Given the description of an element on the screen output the (x, y) to click on. 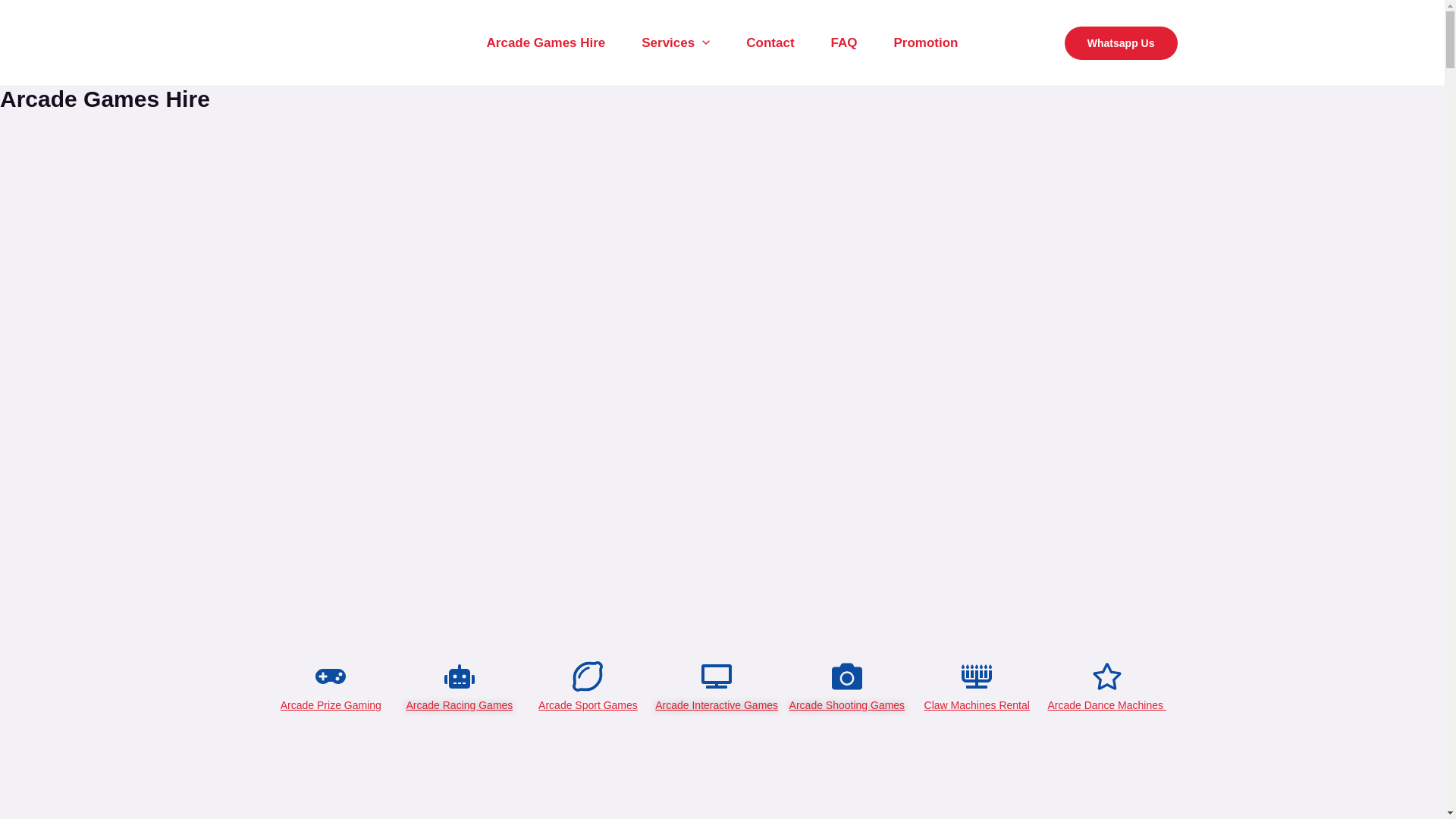
Promotion (925, 42)
FAQ (844, 42)
Arcade Racing Games (459, 705)
Contact (770, 42)
Arcade Games Hire (546, 42)
Whatsapp Us (1120, 41)
Arcade Prize Gaming (331, 705)
Services (675, 42)
